Given the description of an element on the screen output the (x, y) to click on. 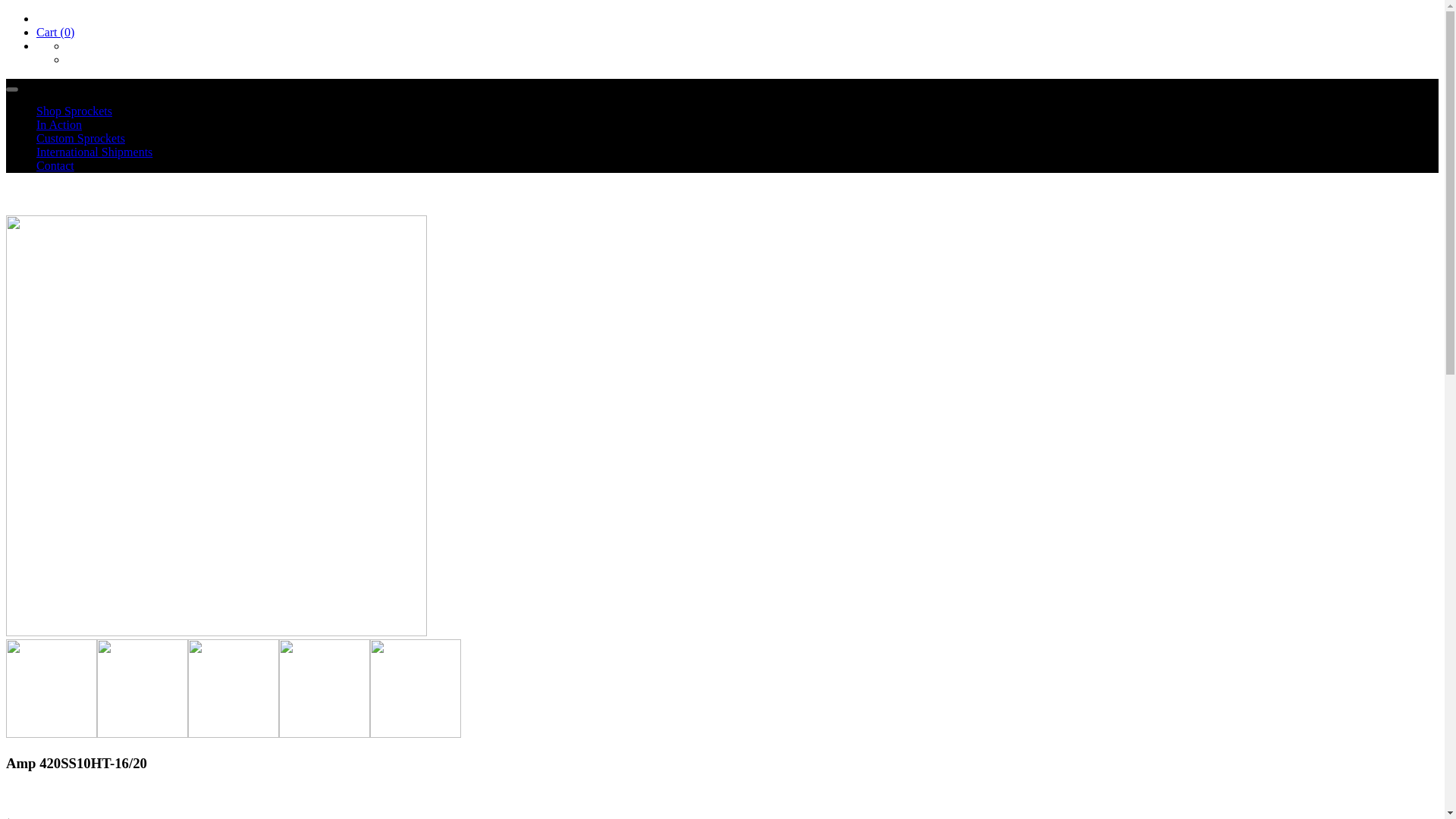
Shop Sprockets (74, 110)
International Shipments (94, 151)
Contact (55, 164)
In Action (58, 124)
Custom Sprockets (80, 137)
